Given the description of an element on the screen output the (x, y) to click on. 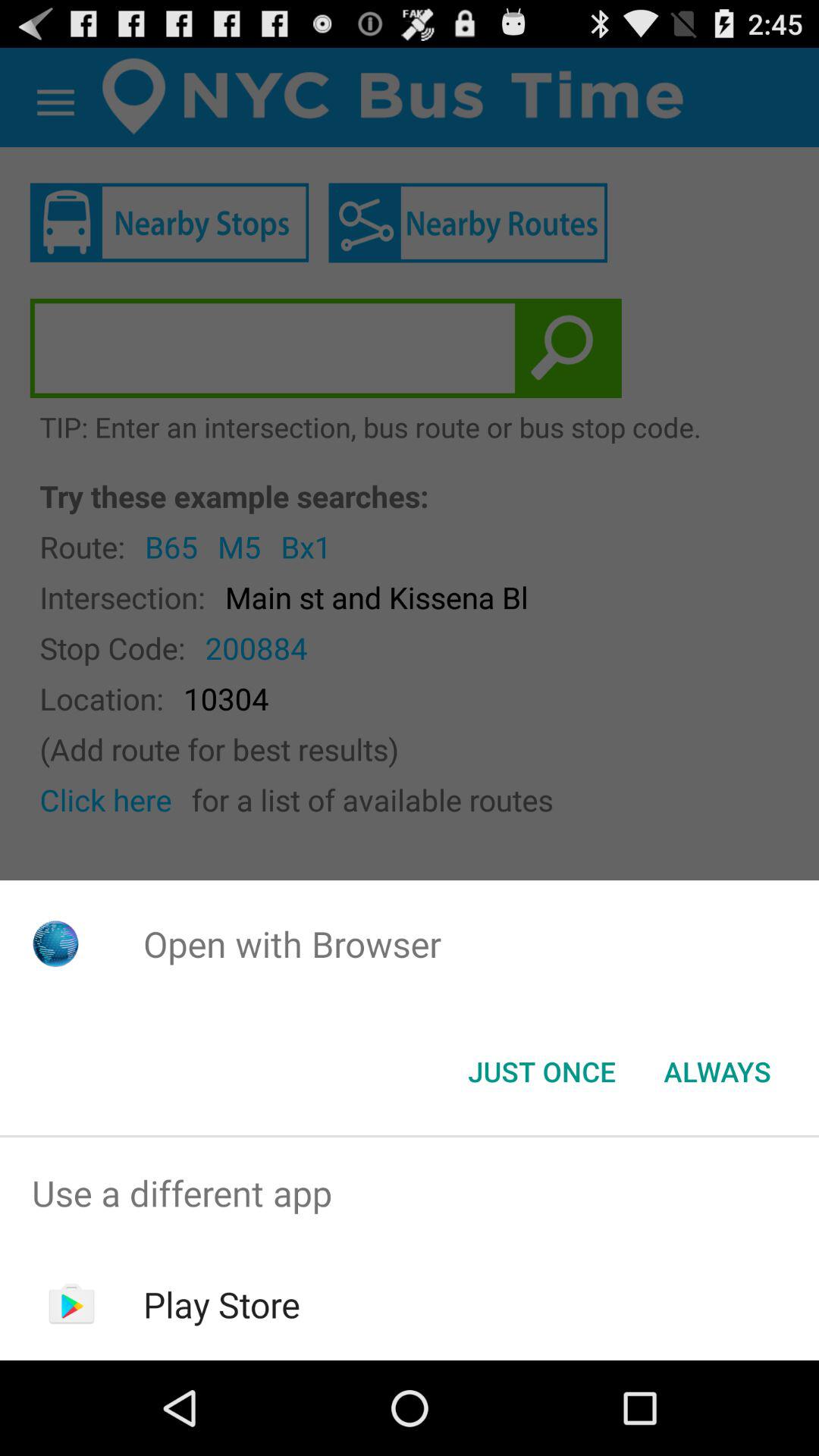
choose always icon (717, 1071)
